Given the description of an element on the screen output the (x, y) to click on. 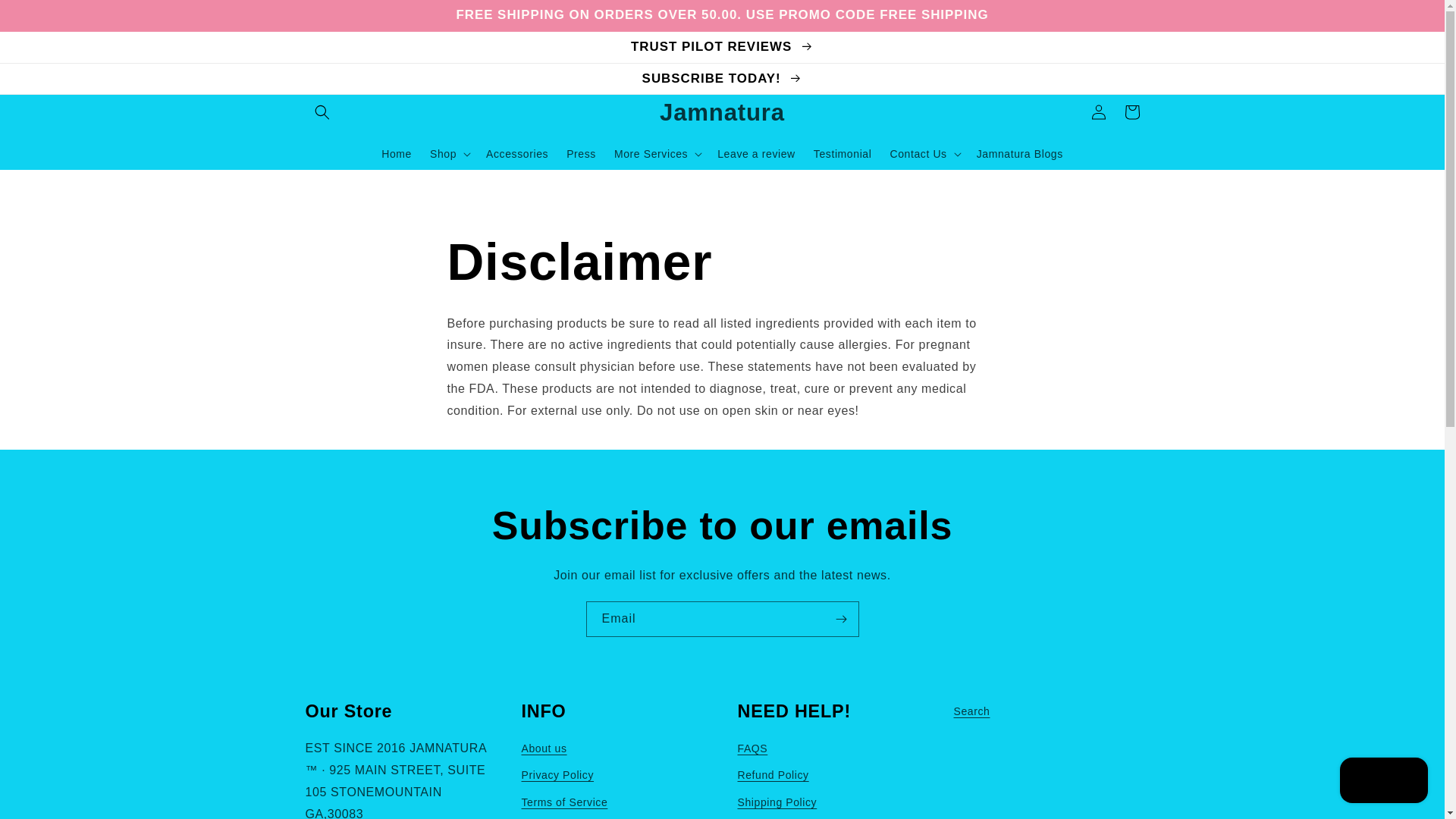
Home (396, 153)
Skip to content (45, 17)
Shopify online store chat (1383, 781)
Jamnatura (721, 112)
